Given the description of an element on the screen output the (x, y) to click on. 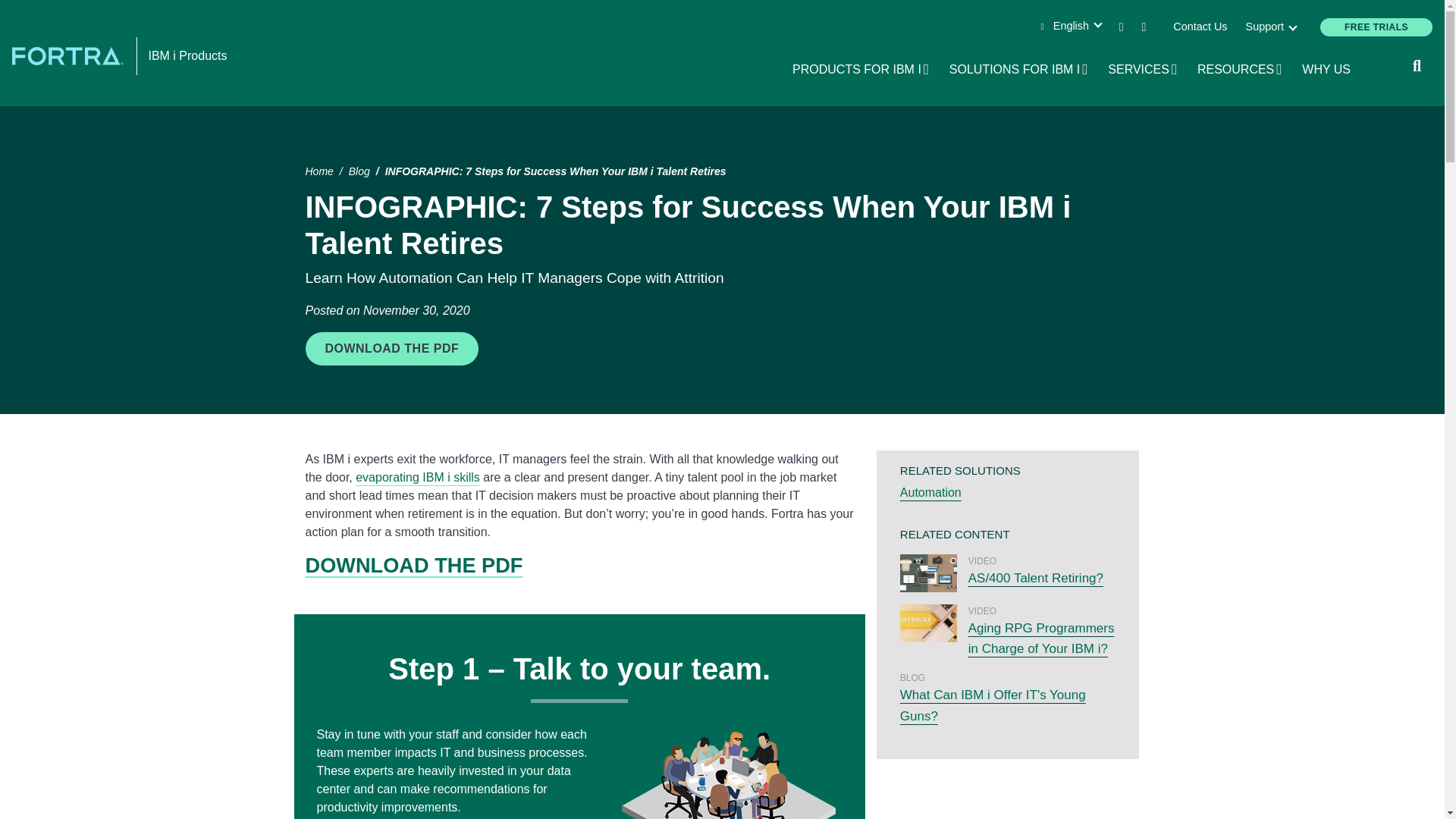
Home (1143, 69)
IBM i Products (70, 55)
Support (187, 55)
Contact Us (1268, 27)
FREE TRIALS (1019, 69)
Skip to main content (1199, 27)
